Given the description of an element on the screen output the (x, y) to click on. 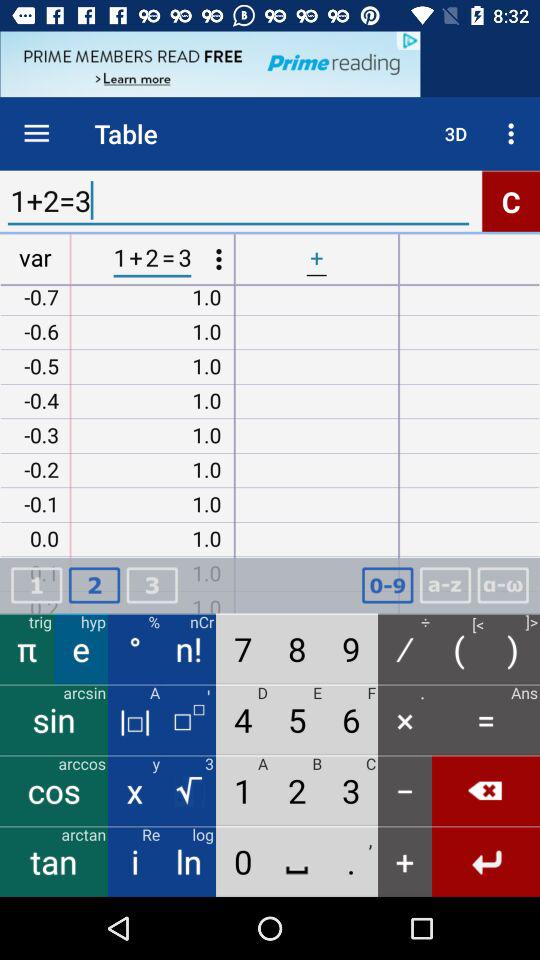
numbers (387, 585)
